Given the description of an element on the screen output the (x, y) to click on. 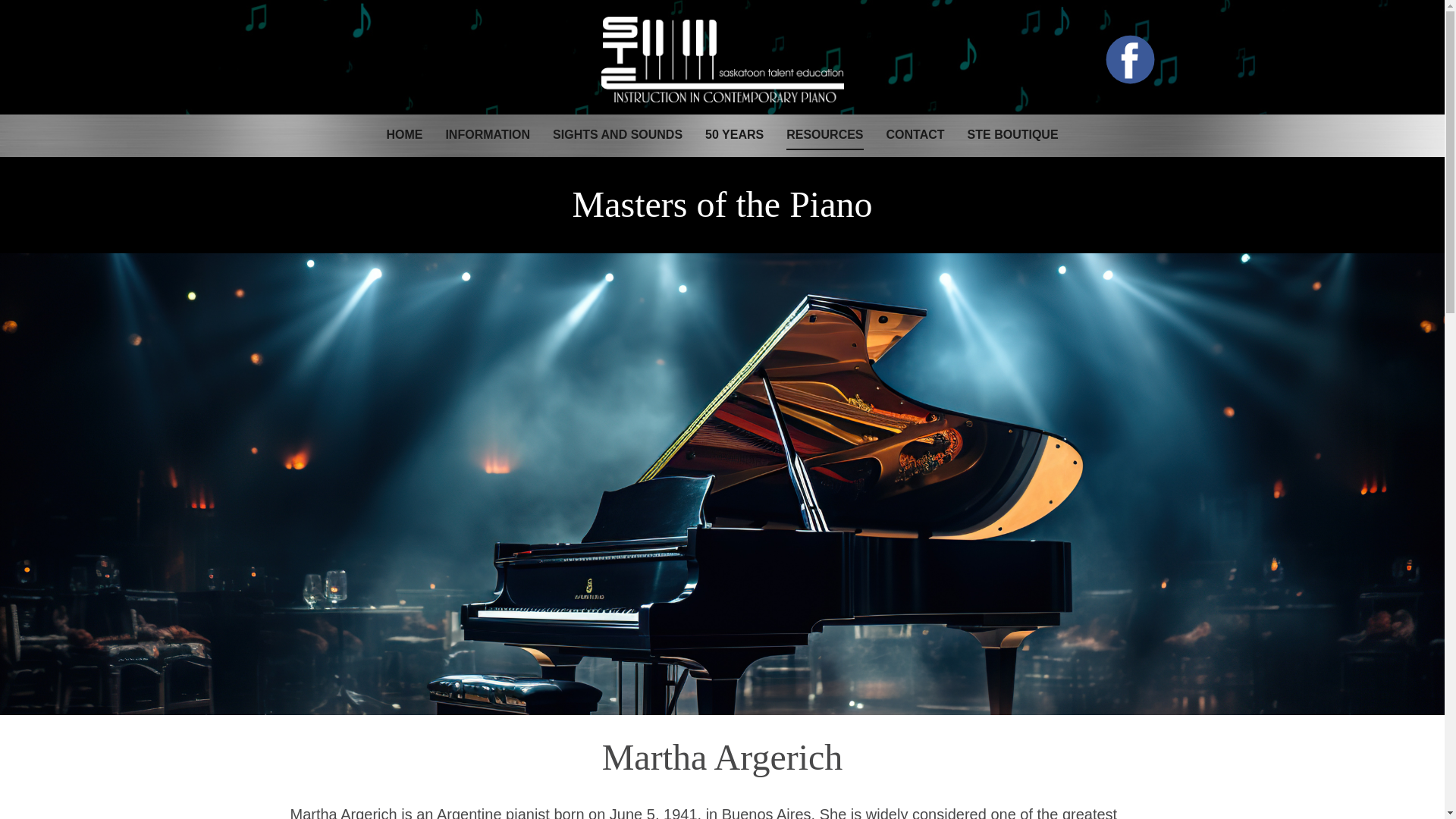
INFORMATION (487, 135)
SIGHTS AND SOUNDS (617, 135)
HOME (403, 135)
facebook (1129, 59)
CONTACT (915, 135)
RESOURCES (824, 135)
STE BOUTIQUE (1013, 135)
50 YEARS (733, 135)
